Given the description of an element on the screen output the (x, y) to click on. 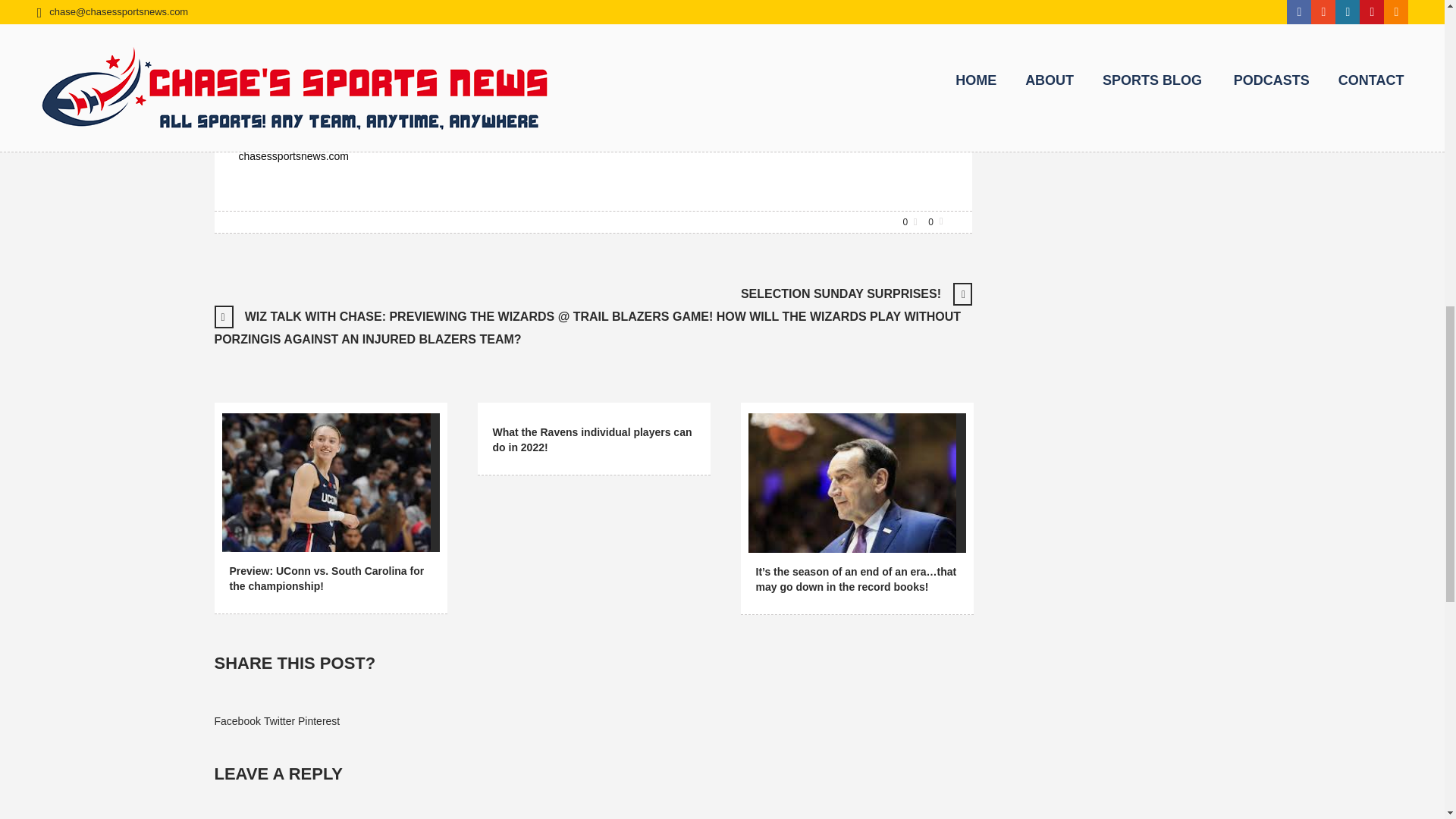
Pinterest (318, 720)
What the Ravens individual players can do in 2022! (593, 439)
0 (937, 220)
Preview: UConn vs. South Carolina for the championship! (320, 479)
0 (911, 220)
Facebook (237, 720)
SELECTION SUNDAY SURPRISES! (840, 293)
Preview: UConn vs. South Carolina for the championship! (325, 481)
Twitter (279, 720)
Preview: UConn vs. South Carolina for the championship! (325, 578)
